Given the description of an element on the screen output the (x, y) to click on. 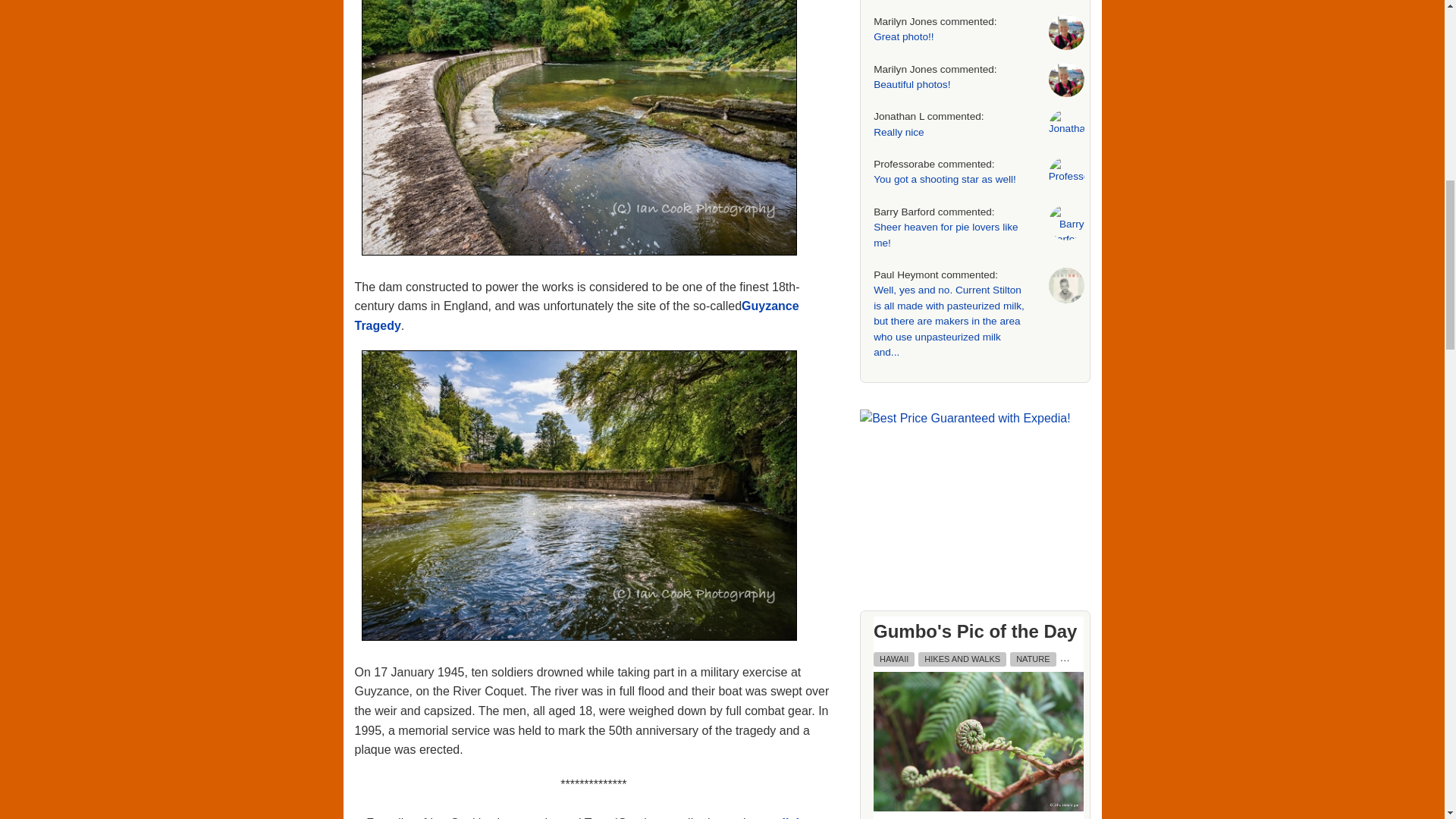
guyz 3 (579, 495)
guyz 3 (579, 497)
Guyz 1 (579, 127)
Guyz 1 (579, 112)
